Given the description of an element on the screen output the (x, y) to click on. 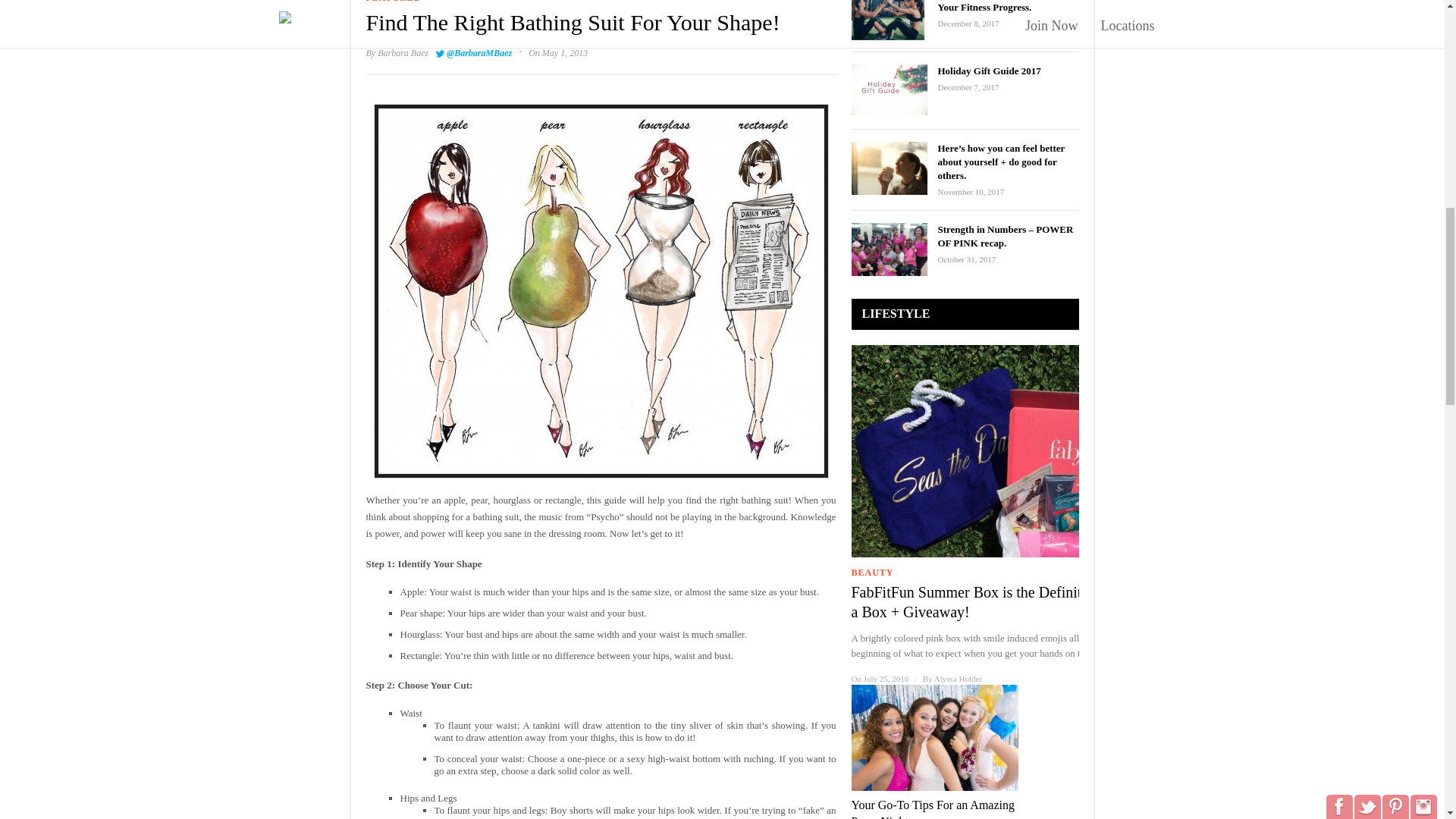
Permanent Link: Holiday Gift Guide 2017 (989, 70)
Follow Barbara Baez on Twitter (473, 52)
Posts by Barbara Baez (402, 52)
Barbara Baez (402, 52)
FEATURED (392, 2)
